Given the description of an element on the screen output the (x, y) to click on. 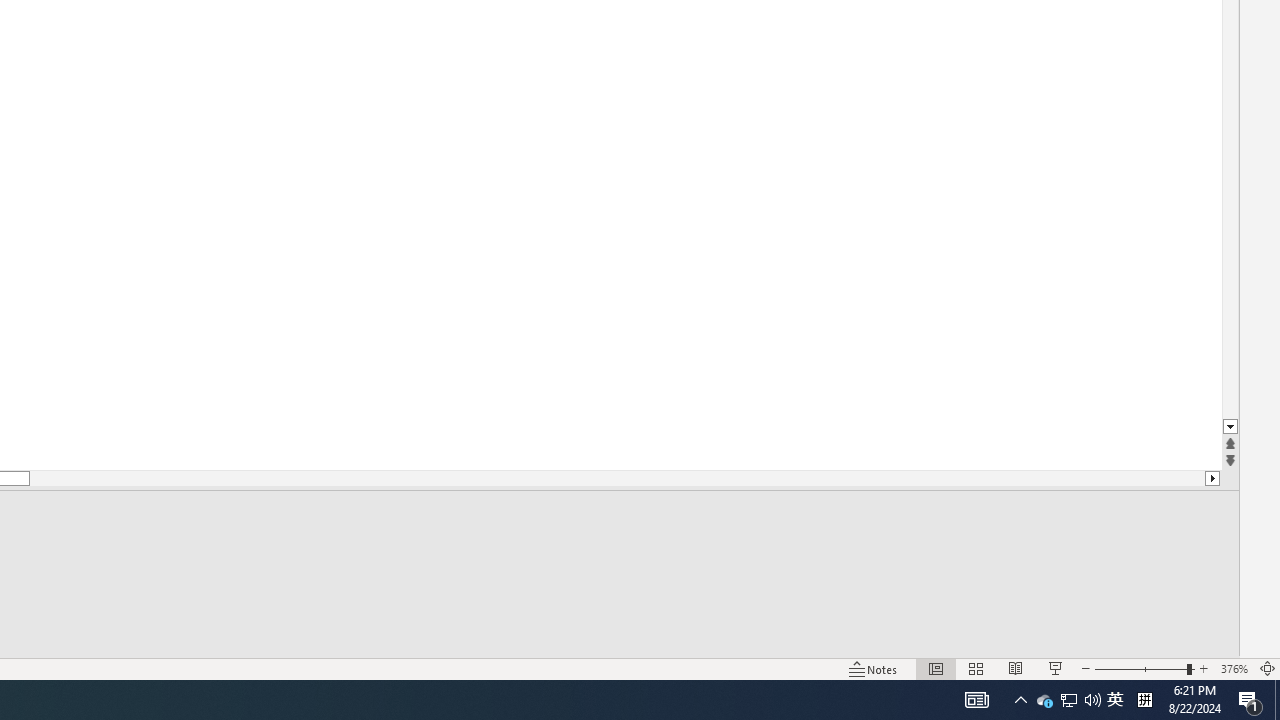
Zoom 376% (1234, 668)
